Given the description of an element on the screen output the (x, y) to click on. 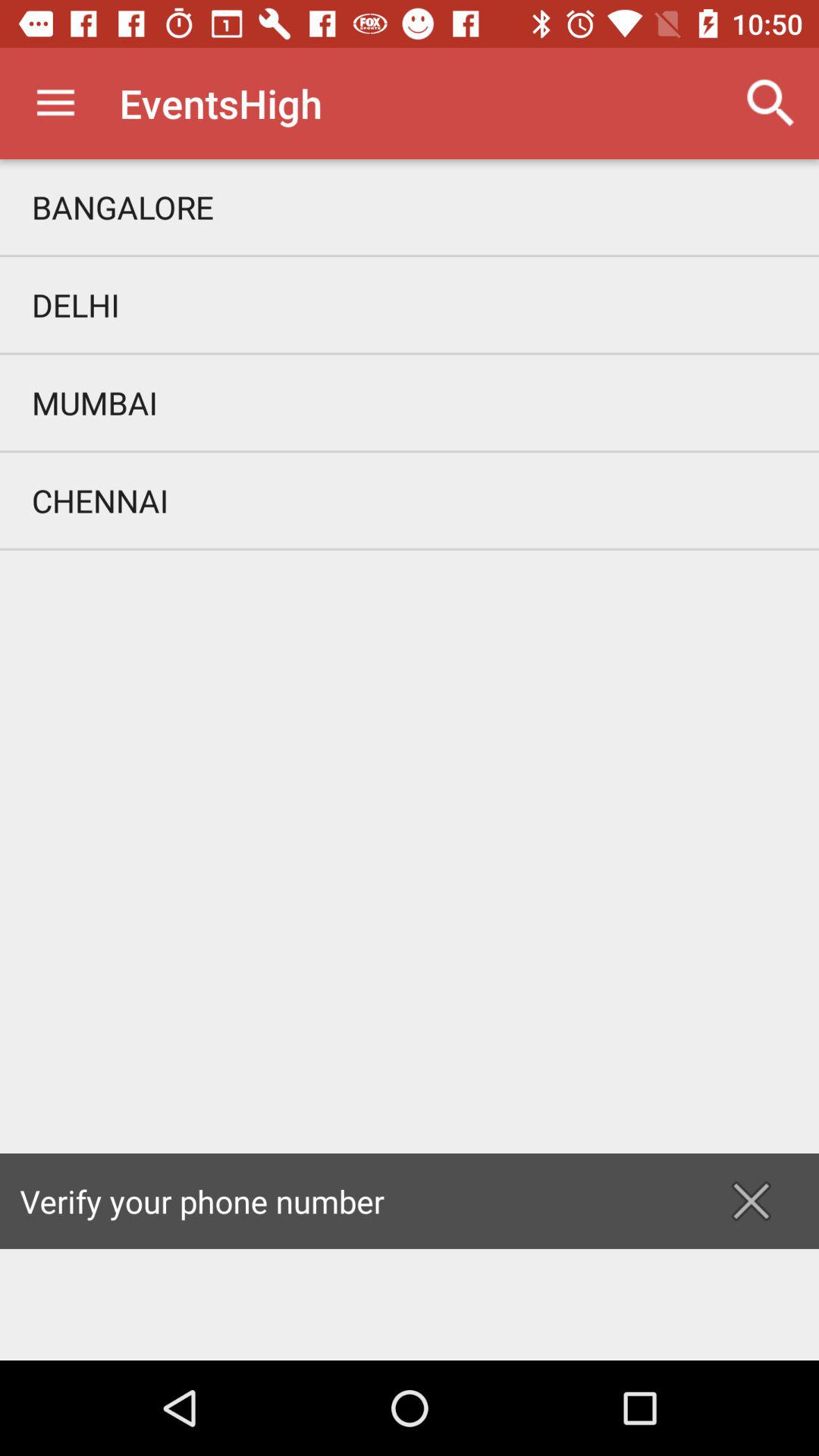
press the item below mumbai icon (409, 500)
